Given the description of an element on the screen output the (x, y) to click on. 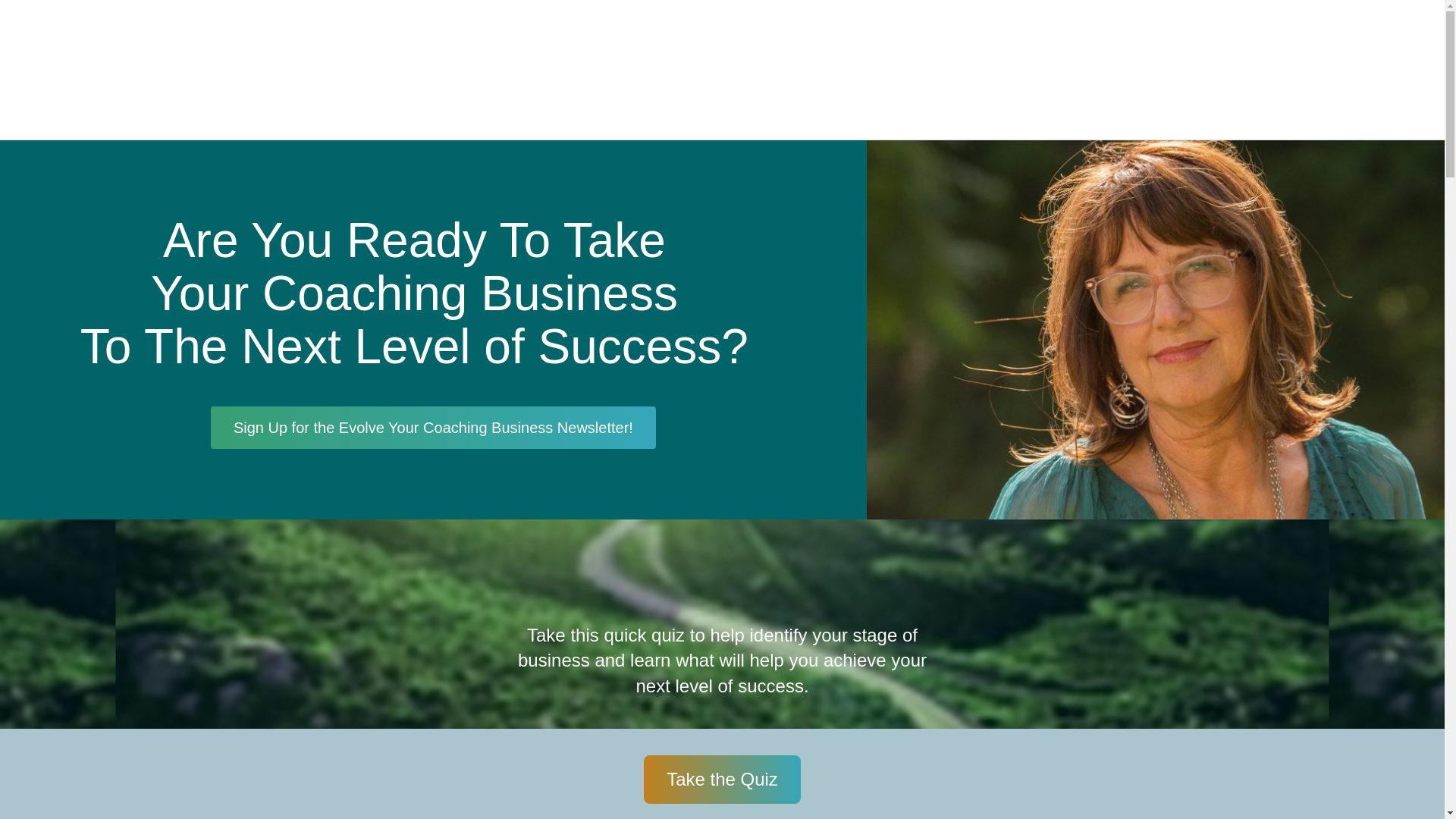
Offerings (969, 69)
Resources (1307, 69)
Sign Up for the Evolve Your Coaching Business Newsletter! (433, 427)
Podcast (1219, 69)
About Us (866, 69)
Contact (1395, 69)
Blog (1147, 69)
Take the Quiz (721, 779)
